Given the description of an element on the screen output the (x, y) to click on. 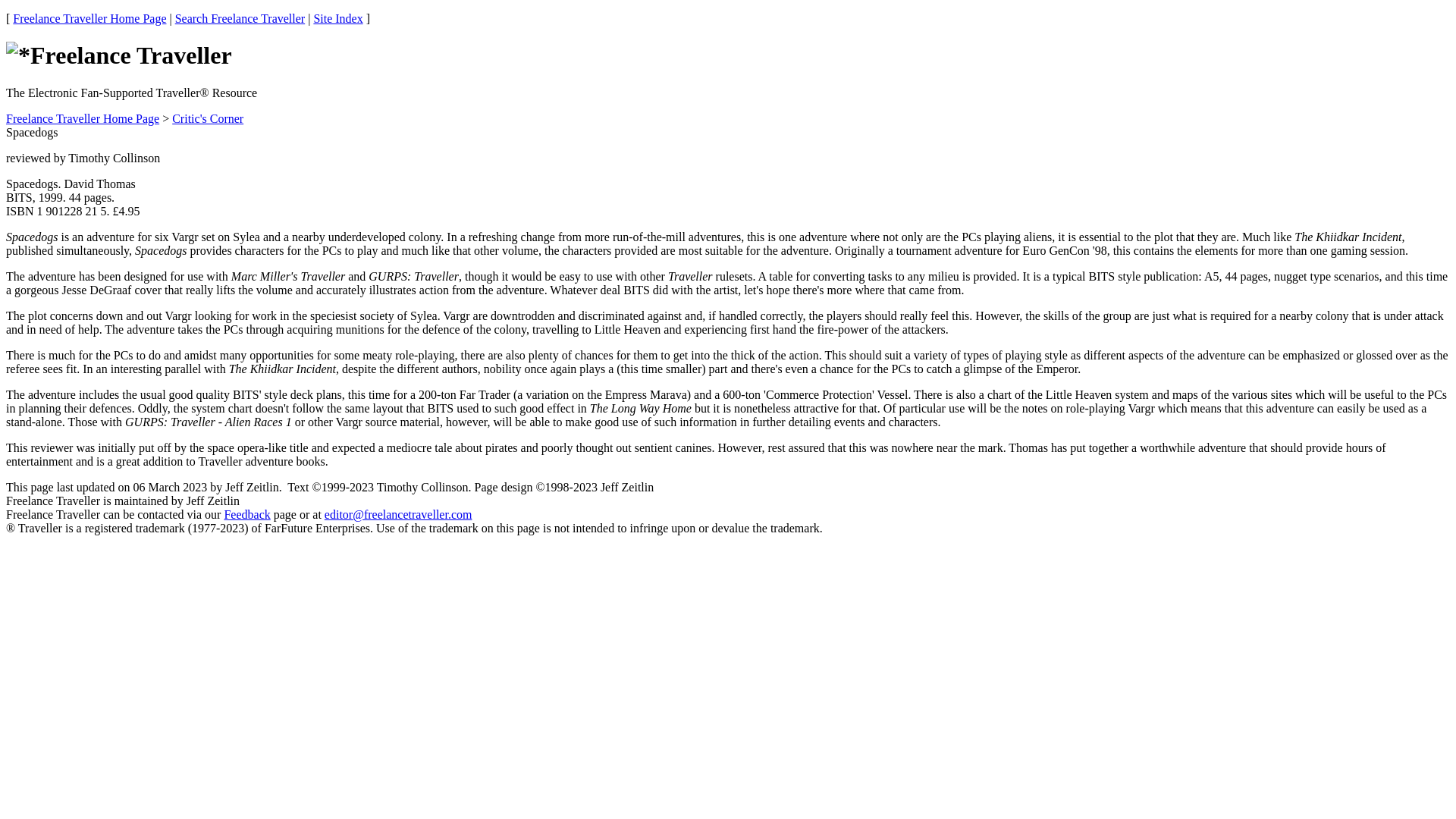
Search Freelance Traveller (239, 18)
Freelance Traveller Home Page (89, 18)
Critic's Corner (207, 118)
Freelance Traveller Home Page (81, 118)
Site Index (337, 18)
Feedback (246, 513)
